Given the description of an element on the screen output the (x, y) to click on. 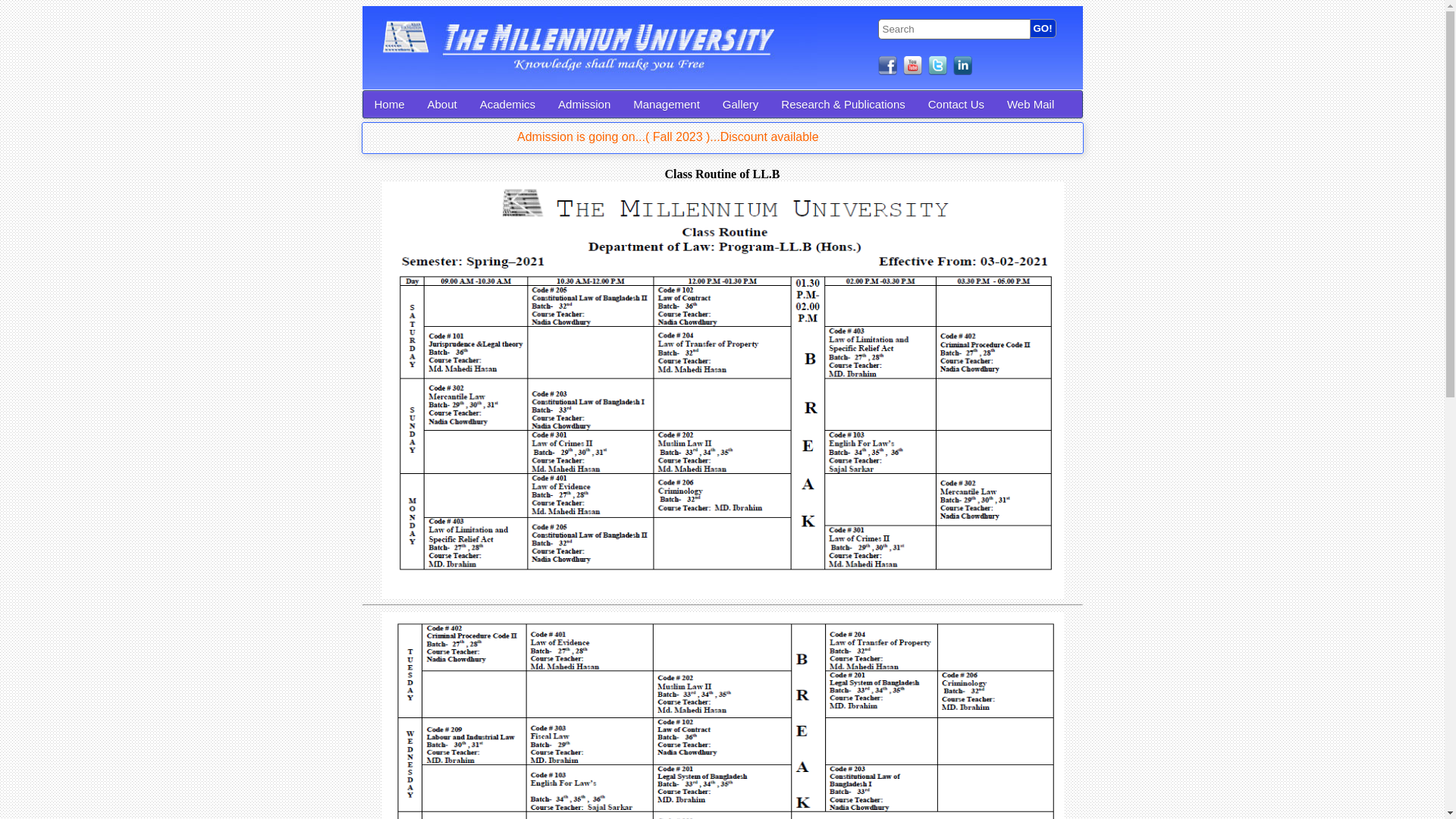
Web Mail Element type: text (1030, 104)
Research & Publications Element type: text (842, 104)
Gallery Element type: text (740, 104)
Admission is going on...( Fall 2023 )...Discount available Element type: text (948, 136)
Contact Us Element type: text (955, 104)
Management Element type: text (666, 104)
About Element type: text (442, 104)
Academics Element type: text (507, 104)
Home Element type: text (388, 104)
Admission Element type: text (583, 104)
GO! Element type: text (1042, 27)
